Given the description of an element on the screen output the (x, y) to click on. 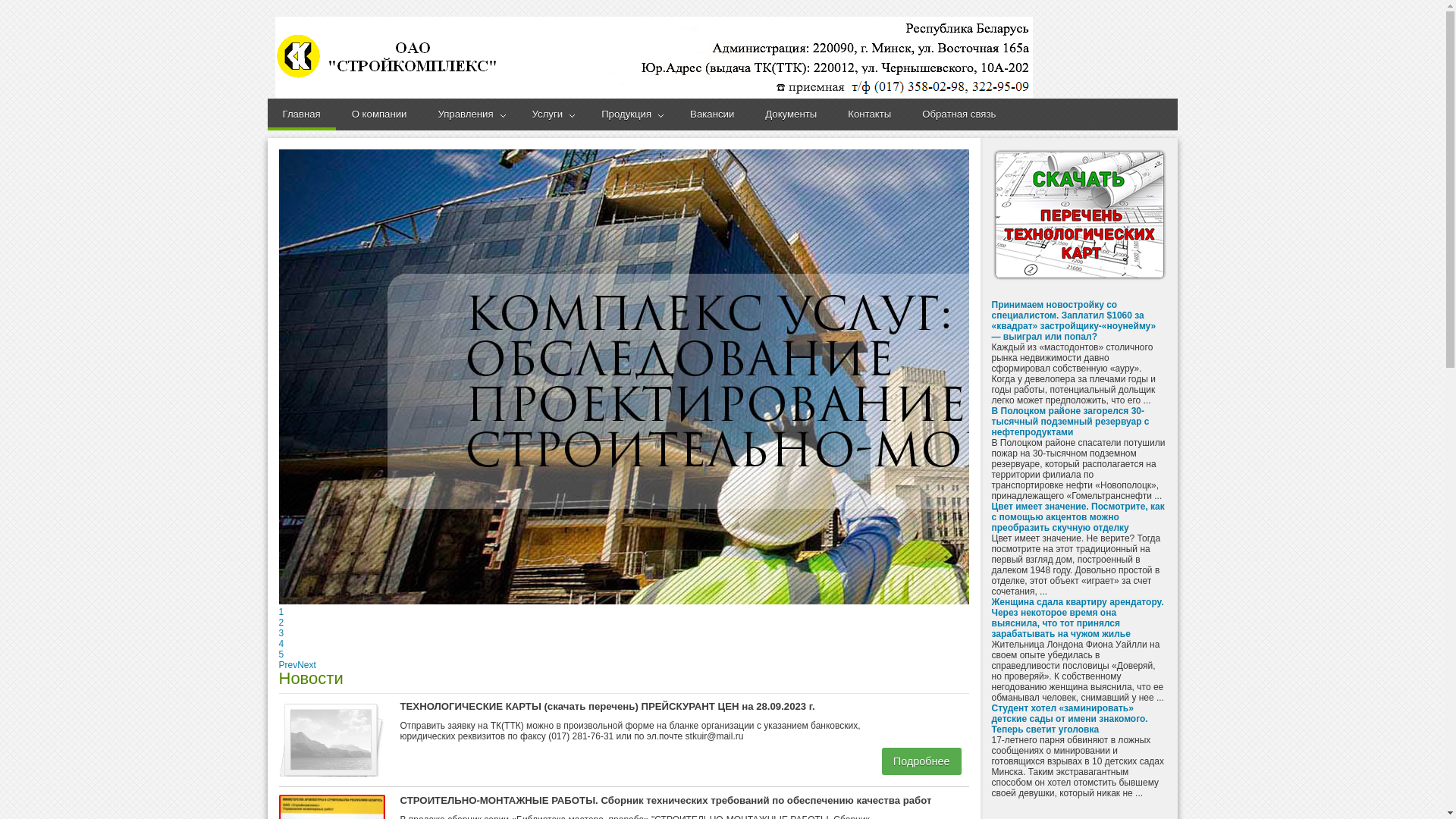
3 Element type: text (281, 632)
2 Element type: text (281, 622)
Prev Element type: text (288, 664)
5 Element type: text (281, 654)
Next Element type: text (306, 664)
4 Element type: text (281, 643)
1 Element type: text (281, 611)
